Given the description of an element on the screen output the (x, y) to click on. 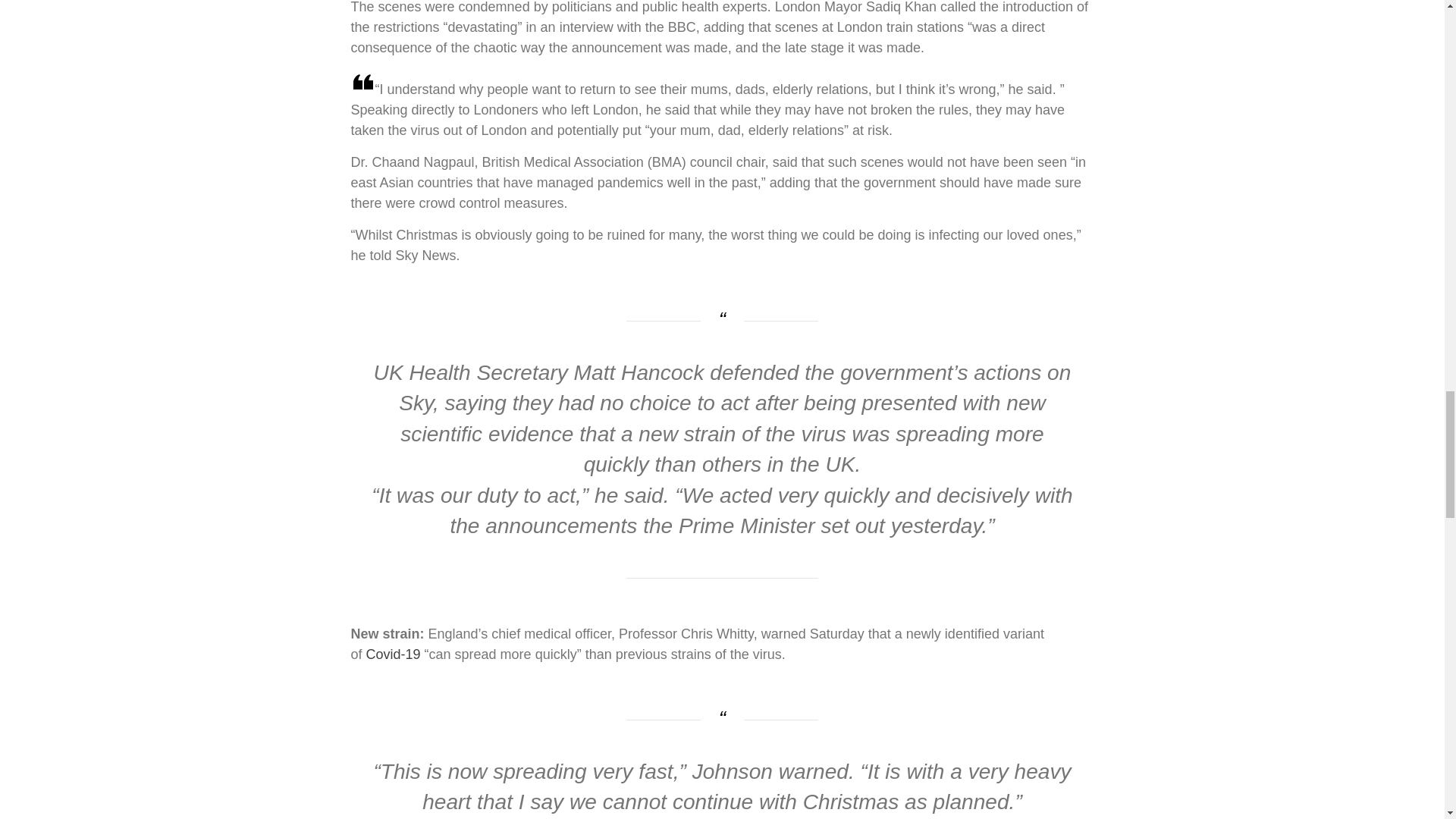
Covid-19 (393, 654)
